Given the description of an element on the screen output the (x, y) to click on. 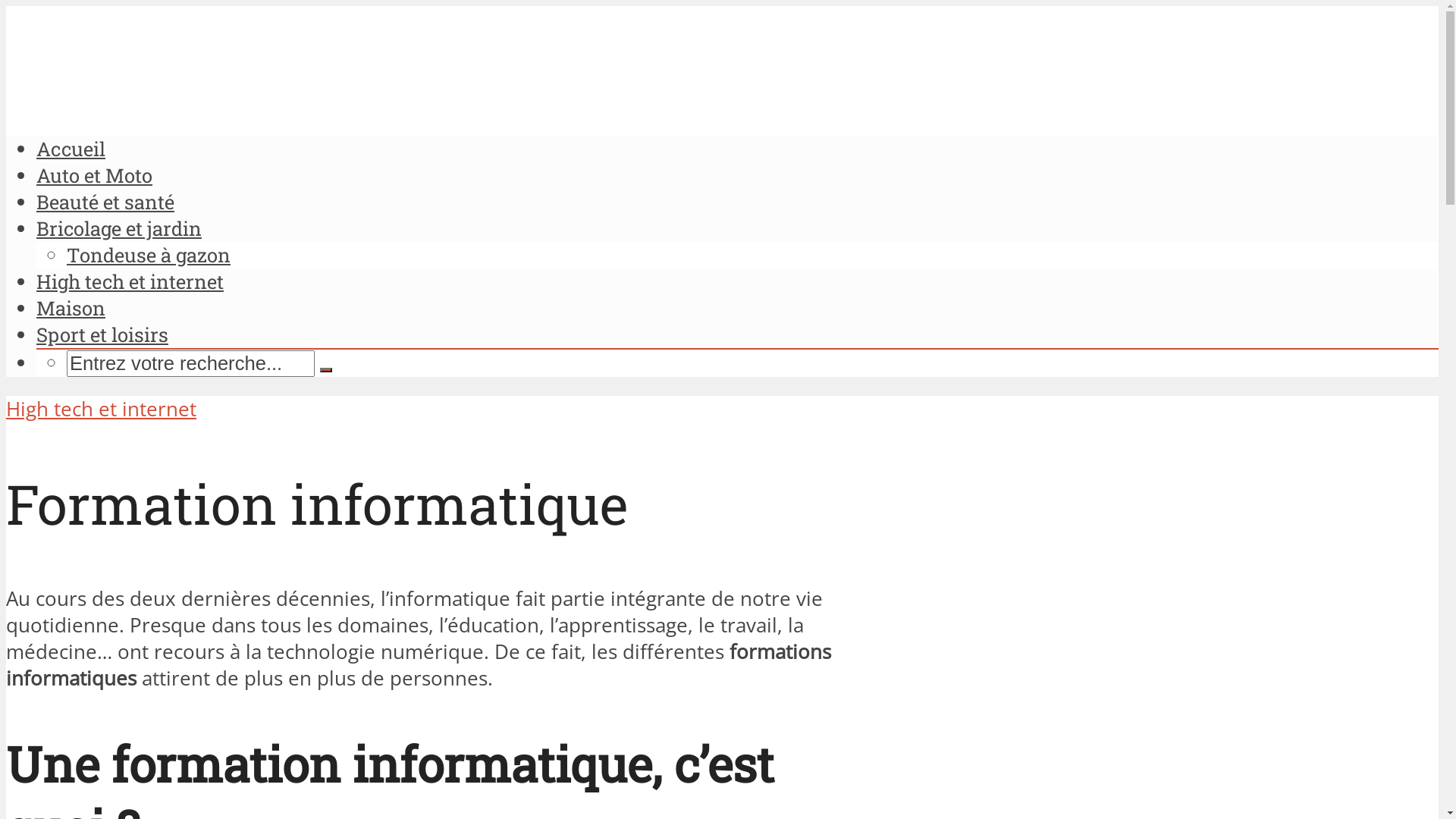
High tech et internet Element type: text (129, 281)
Bricolage et jardin Element type: text (118, 228)
Auto et Moto Element type: text (94, 175)
High tech et internet Element type: text (101, 408)
Accueil Element type: text (70, 148)
Maison Element type: text (70, 307)
Sport et loisirs Element type: text (102, 334)
